Given the description of an element on the screen output the (x, y) to click on. 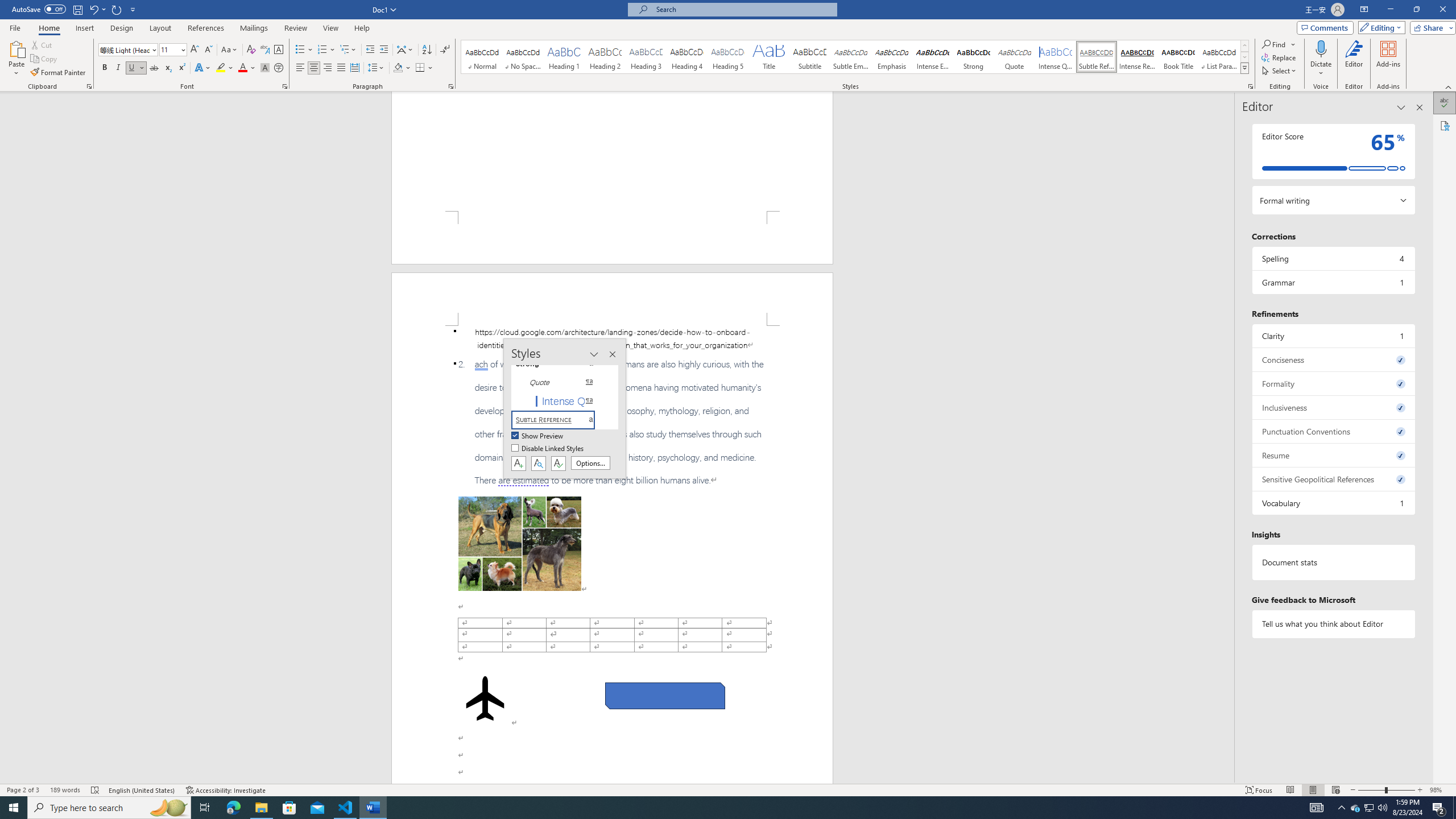
Task Pane Options (1400, 107)
Ribbon Display Options (1364, 9)
Customize Quick Access Toolbar (133, 9)
Editor (1353, 58)
Subtle Reference (1095, 56)
View (330, 28)
Heading 5 (727, 56)
Cut (42, 44)
Web Layout (1335, 790)
Find (1274, 44)
Subtle Emphasis (849, 56)
Multilevel List (347, 49)
